Given the description of an element on the screen output the (x, y) to click on. 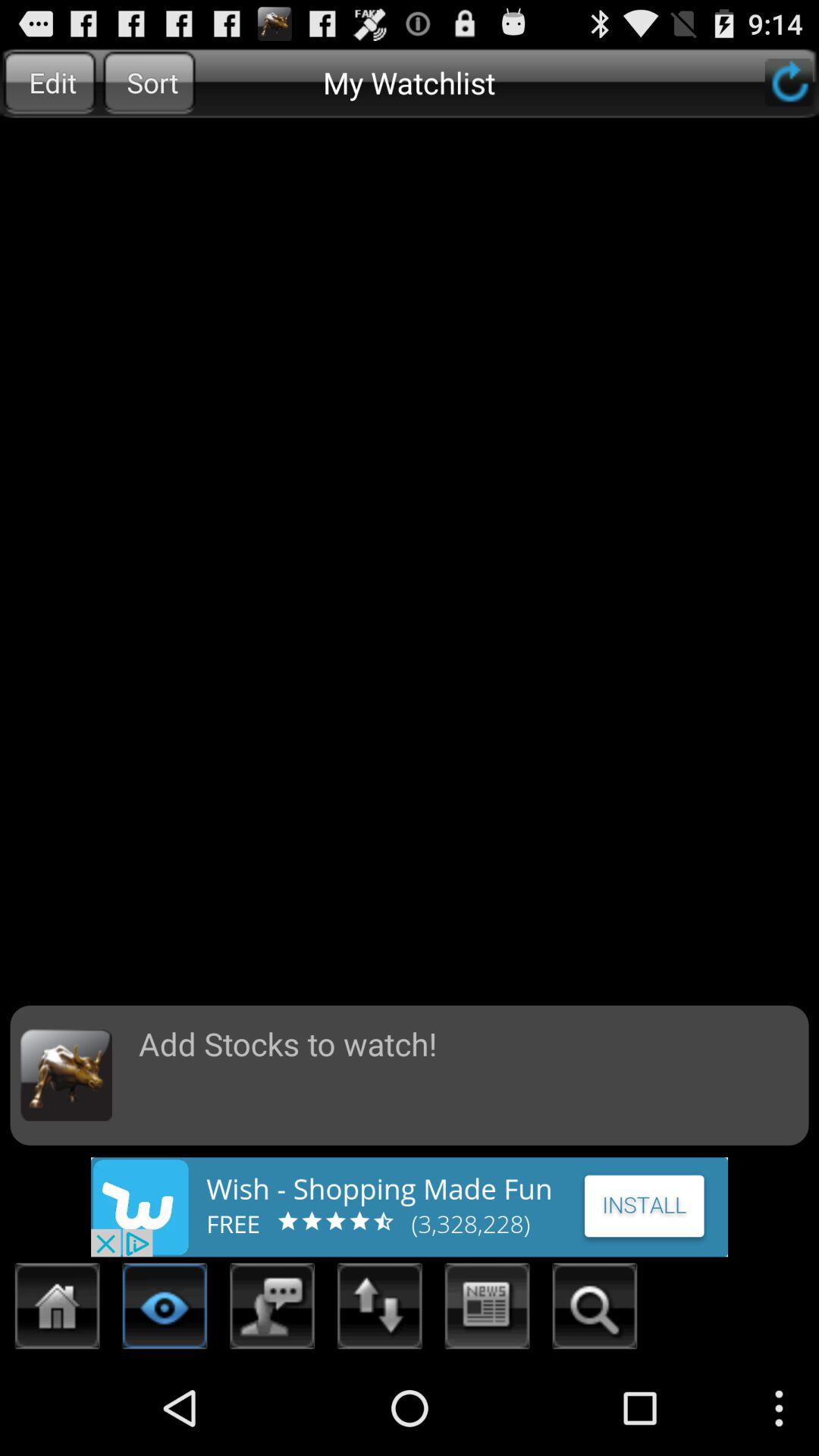
go to advertisement (409, 1206)
